Given the description of an element on the screen output the (x, y) to click on. 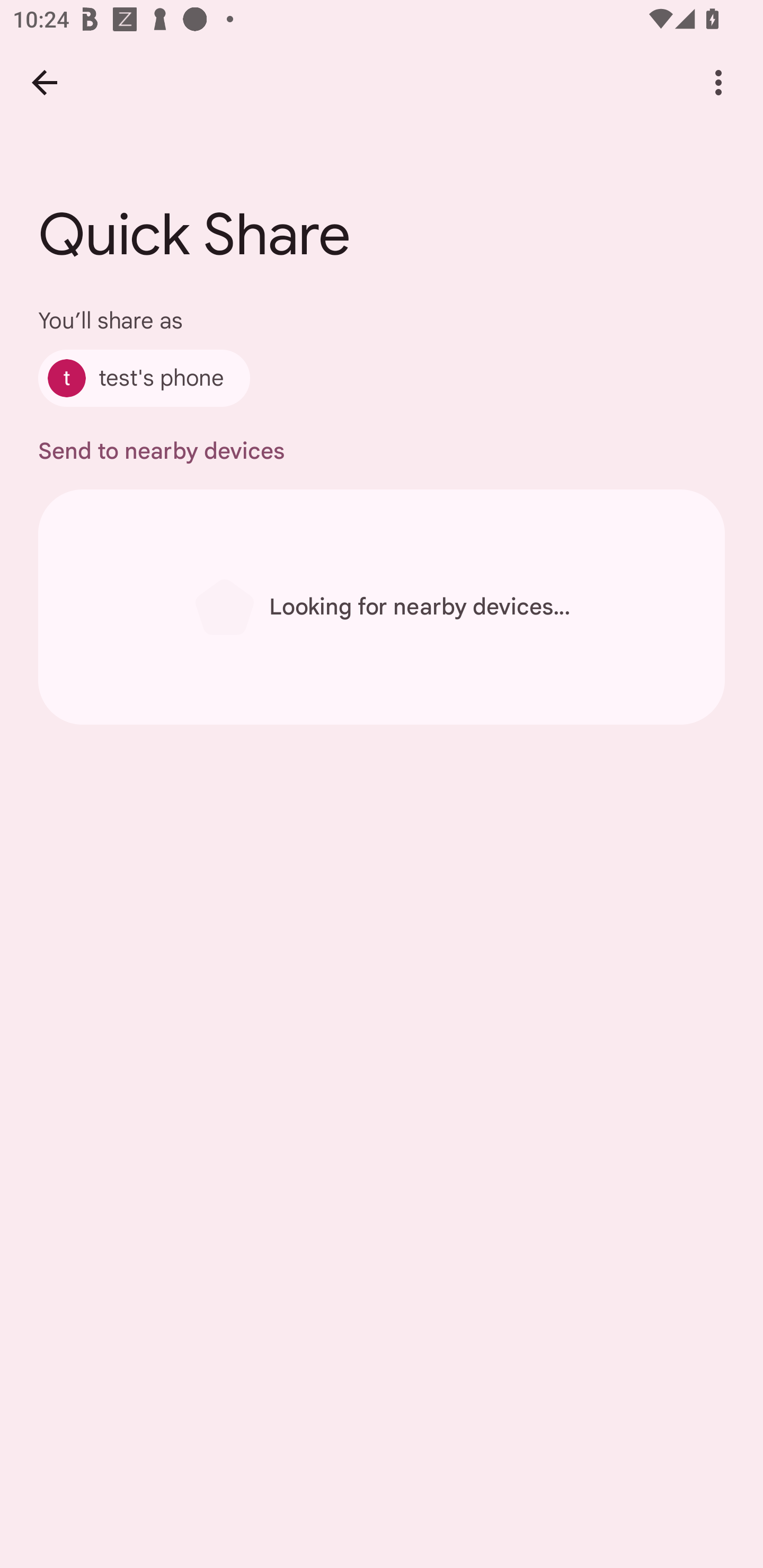
Back (44, 81)
More (718, 81)
test's phone (144, 378)
